Given the description of an element on the screen output the (x, y) to click on. 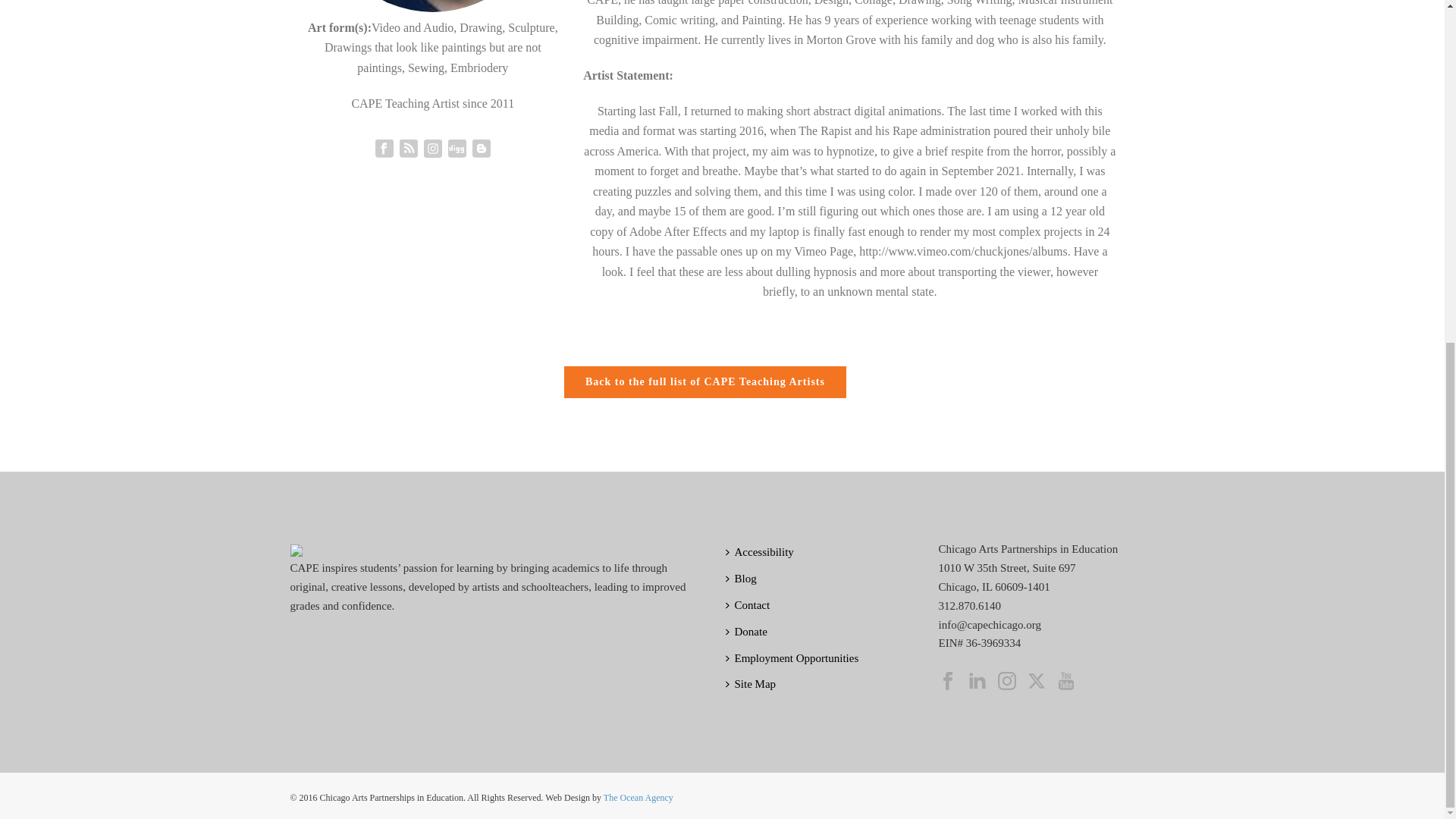
 youtube (1066, 681)
 facebook (947, 681)
 instagram (1006, 681)
 linkedin (976, 681)
 twitter (1035, 681)
Back to the full list of CAPE Teaching Artists (704, 382)
